Given the description of an element on the screen output the (x, y) to click on. 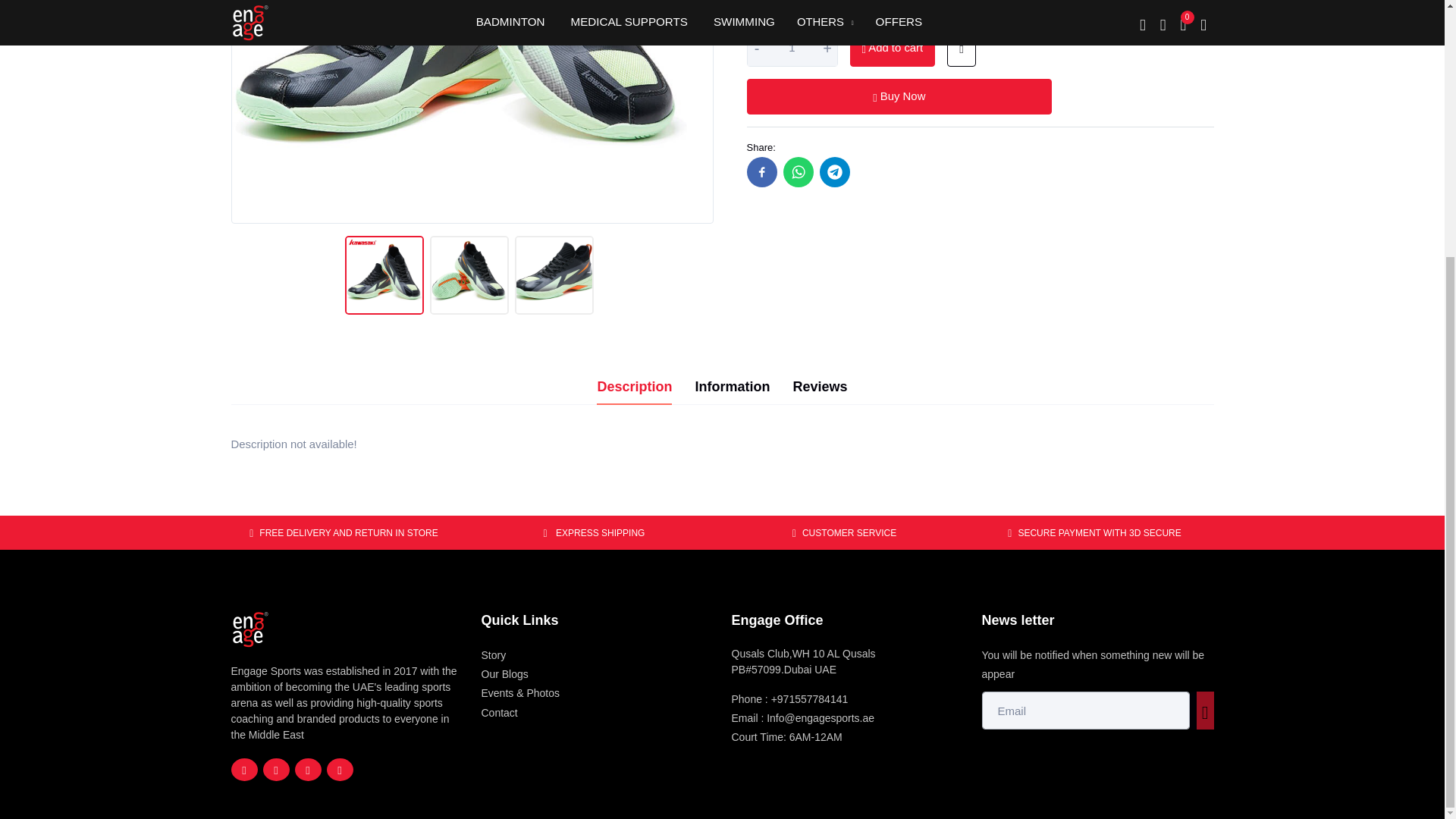
1 (791, 48)
